Given the description of an element on the screen output the (x, y) to click on. 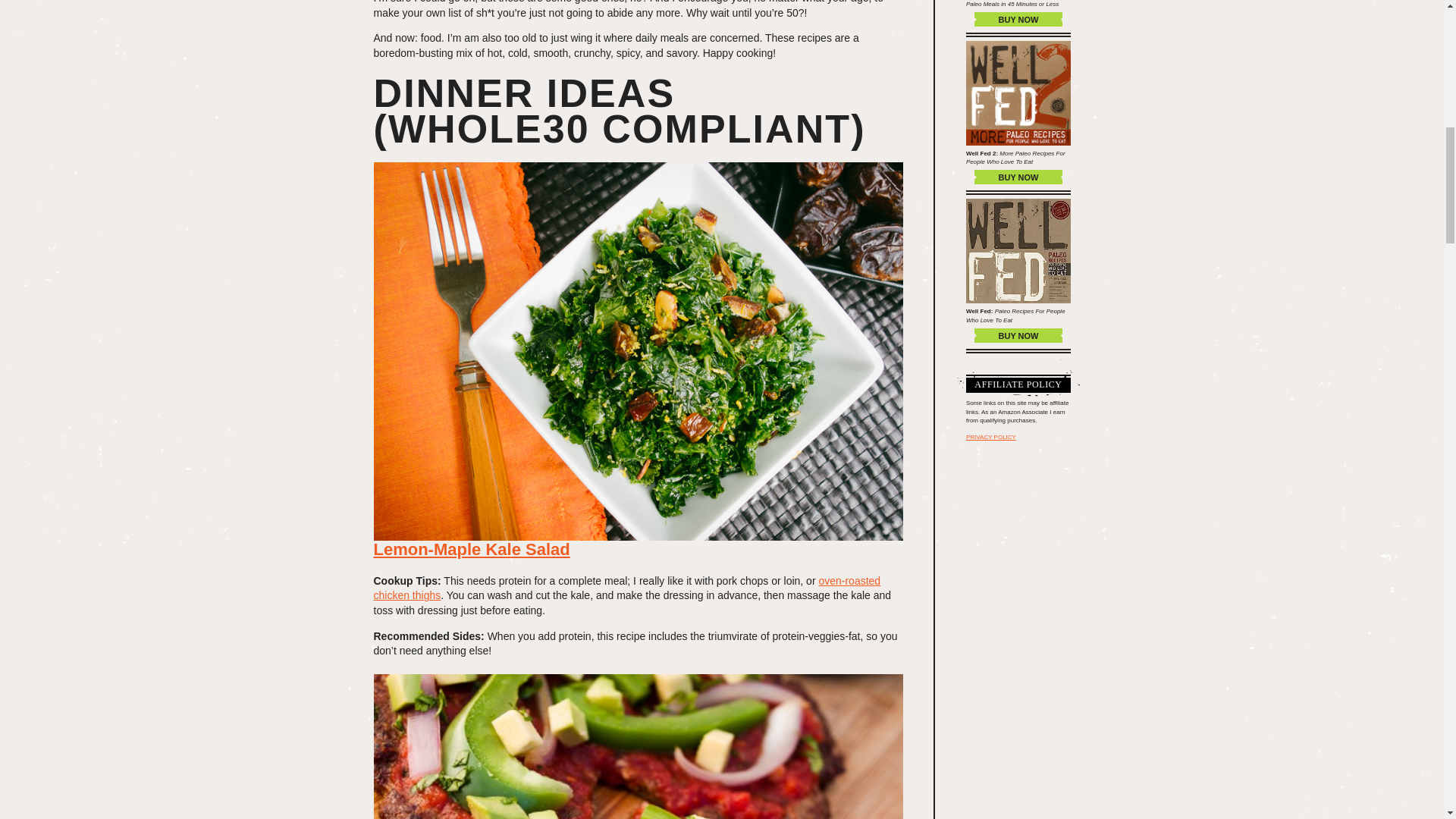
oven-roasted chicken thighs (626, 587)
